Given the description of an element on the screen output the (x, y) to click on. 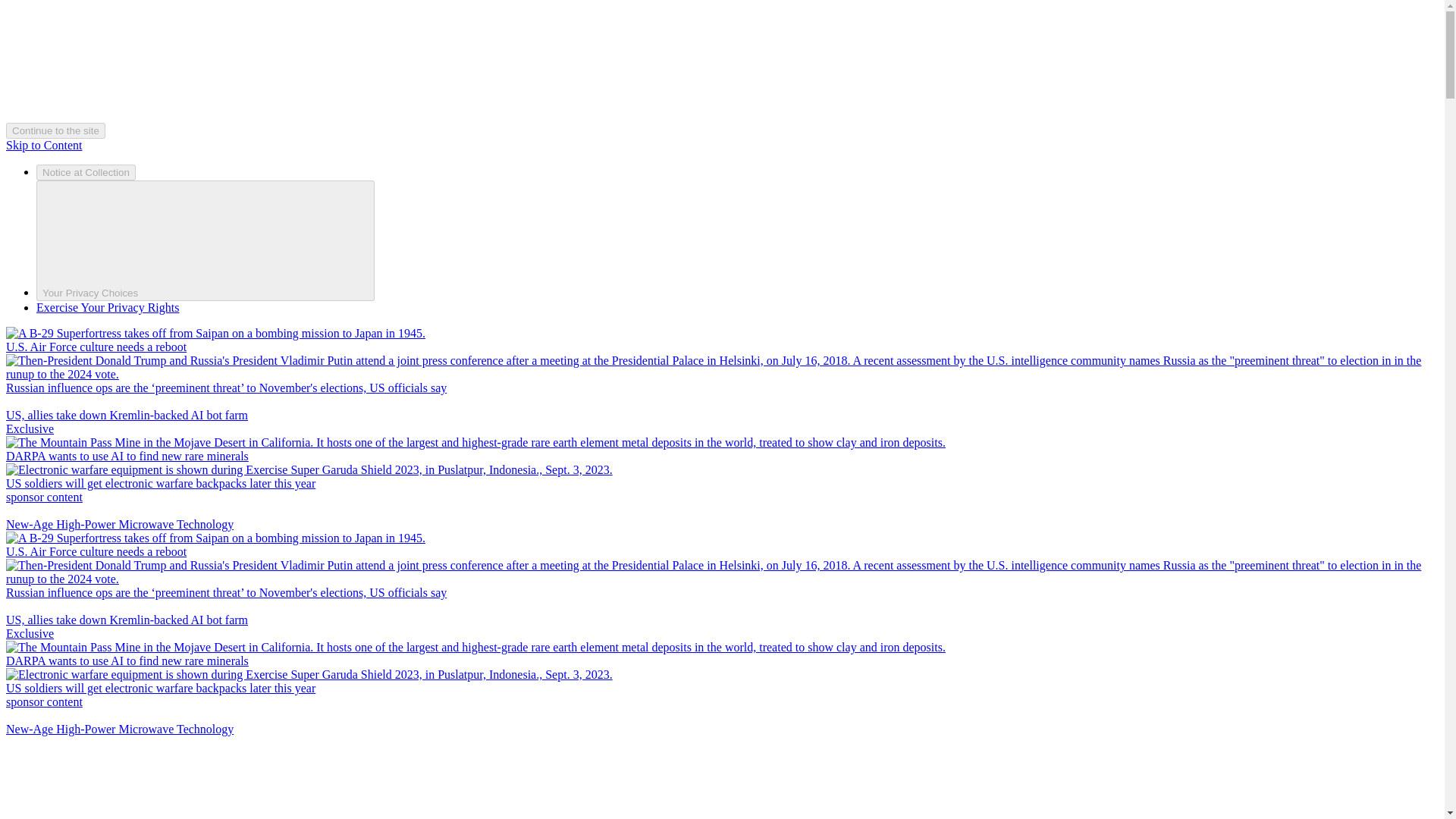
Continue to the site (54, 130)
Exercise Your Privacy Rights (107, 307)
Your Privacy Choices (205, 240)
Notice at Collection (85, 172)
Skip to Content (43, 144)
